Given the description of an element on the screen output the (x, y) to click on. 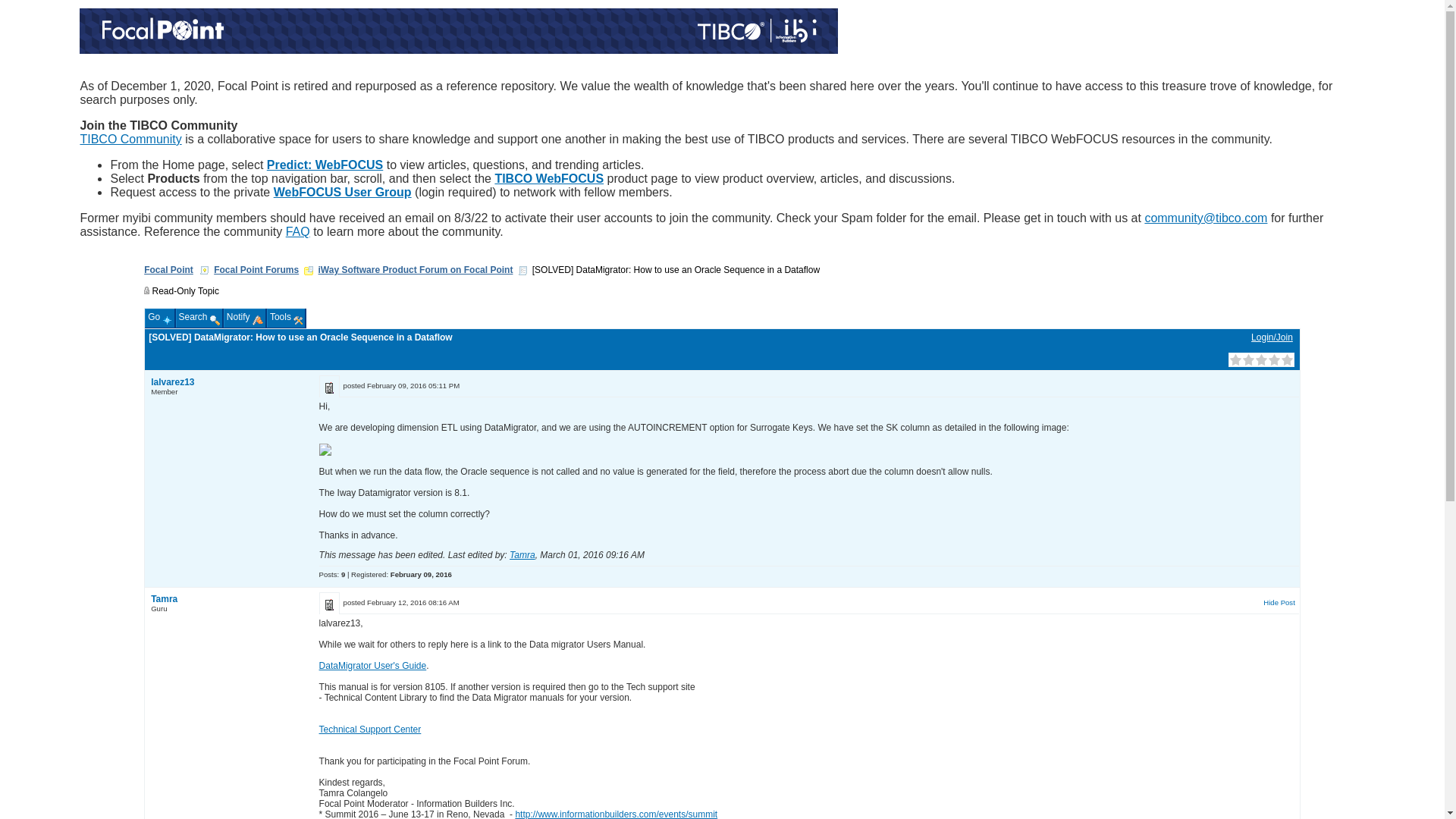
Predict: WebFOCUS (325, 164)
TIBCO Community (130, 138)
Focal Point (168, 269)
Hop To Forum Categories (308, 270)
GO (307, 172)
TIBCO WebFOCUS (549, 178)
FAQ (297, 231)
WebFOCUS User Group (342, 192)
Focal Point Forums (256, 269)
iWay Software Product Forum on Focal Point (415, 269)
